Given the description of an element on the screen output the (x, y) to click on. 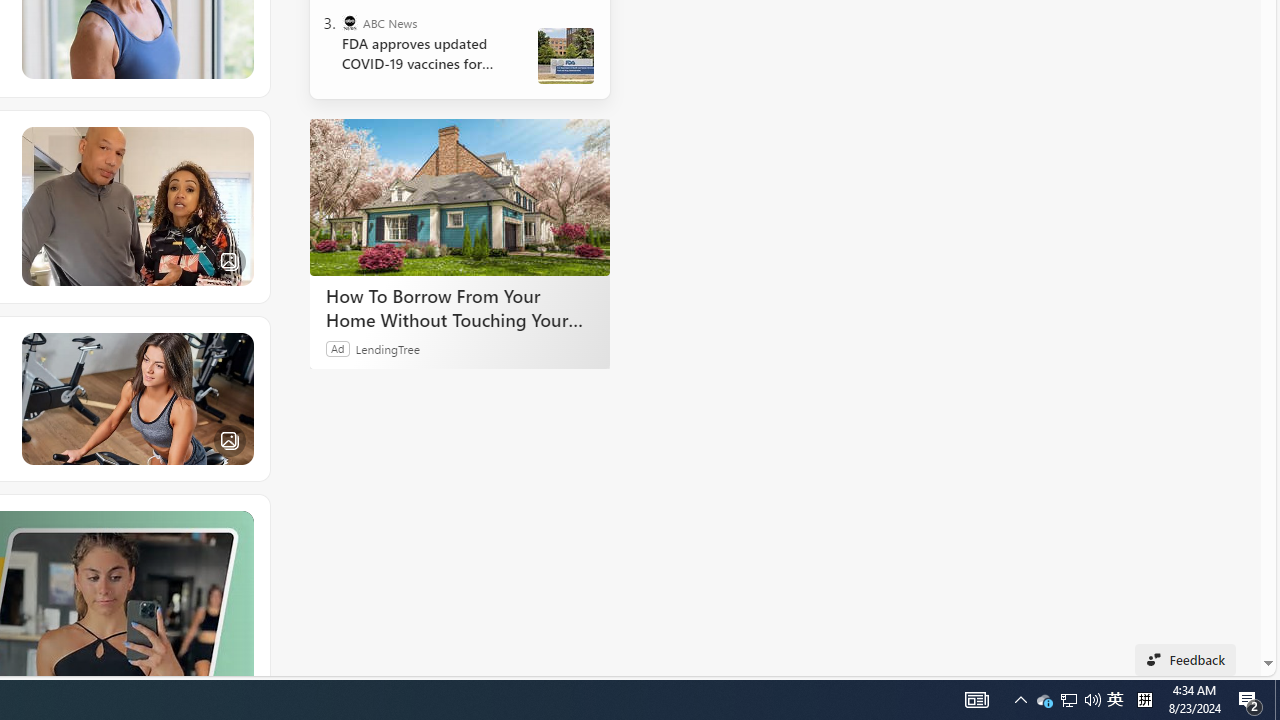
How To Borrow From Your Home Without Touching Your Mortgage (459, 307)
ABC News (349, 22)
LendingTree (387, 348)
How To Borrow From Your Home Without Touching Your Mortgage (459, 196)
